Given the description of an element on the screen output the (x, y) to click on. 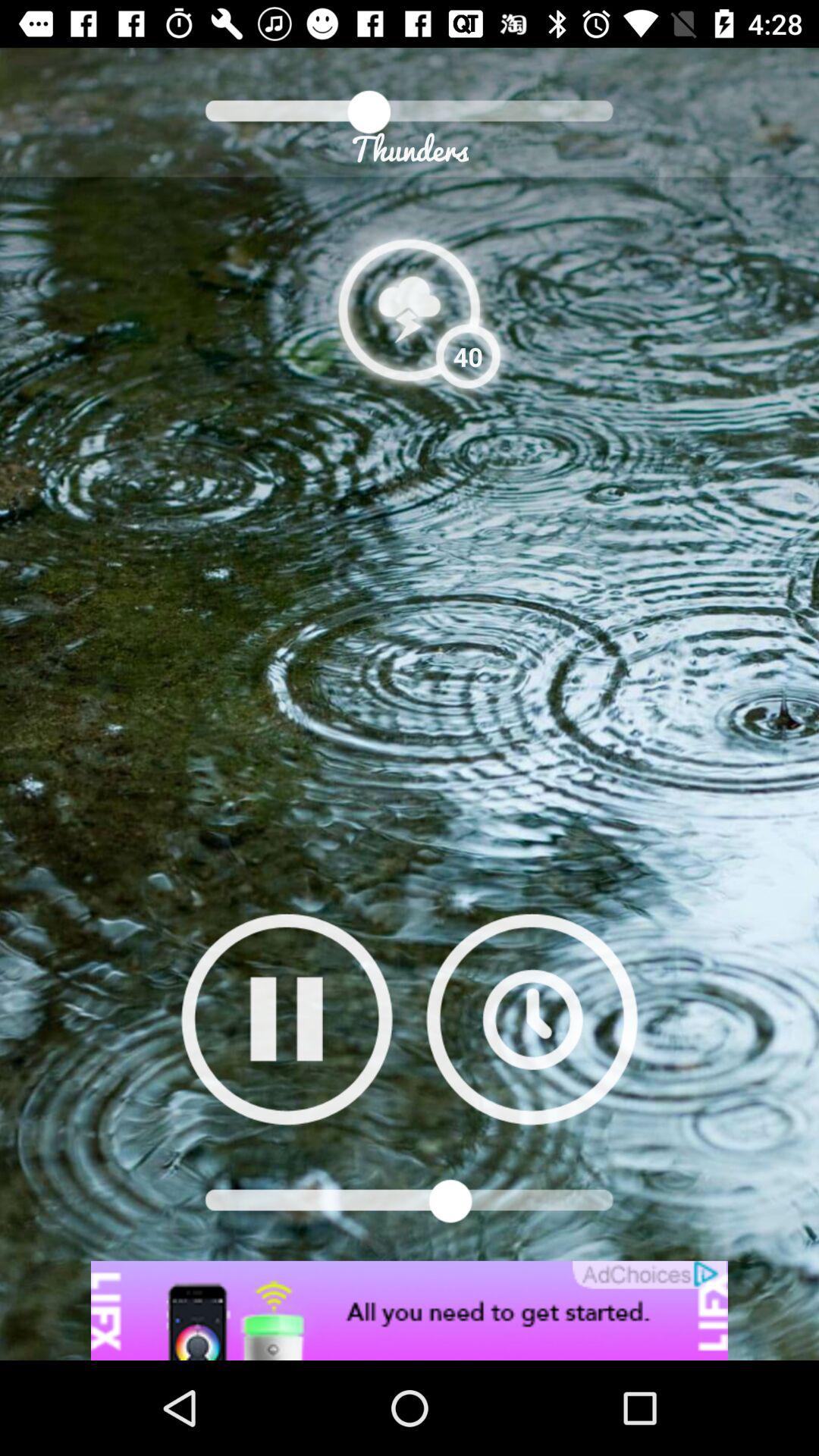
go to advertisement (409, 1310)
